Given the description of an element on the screen output the (x, y) to click on. 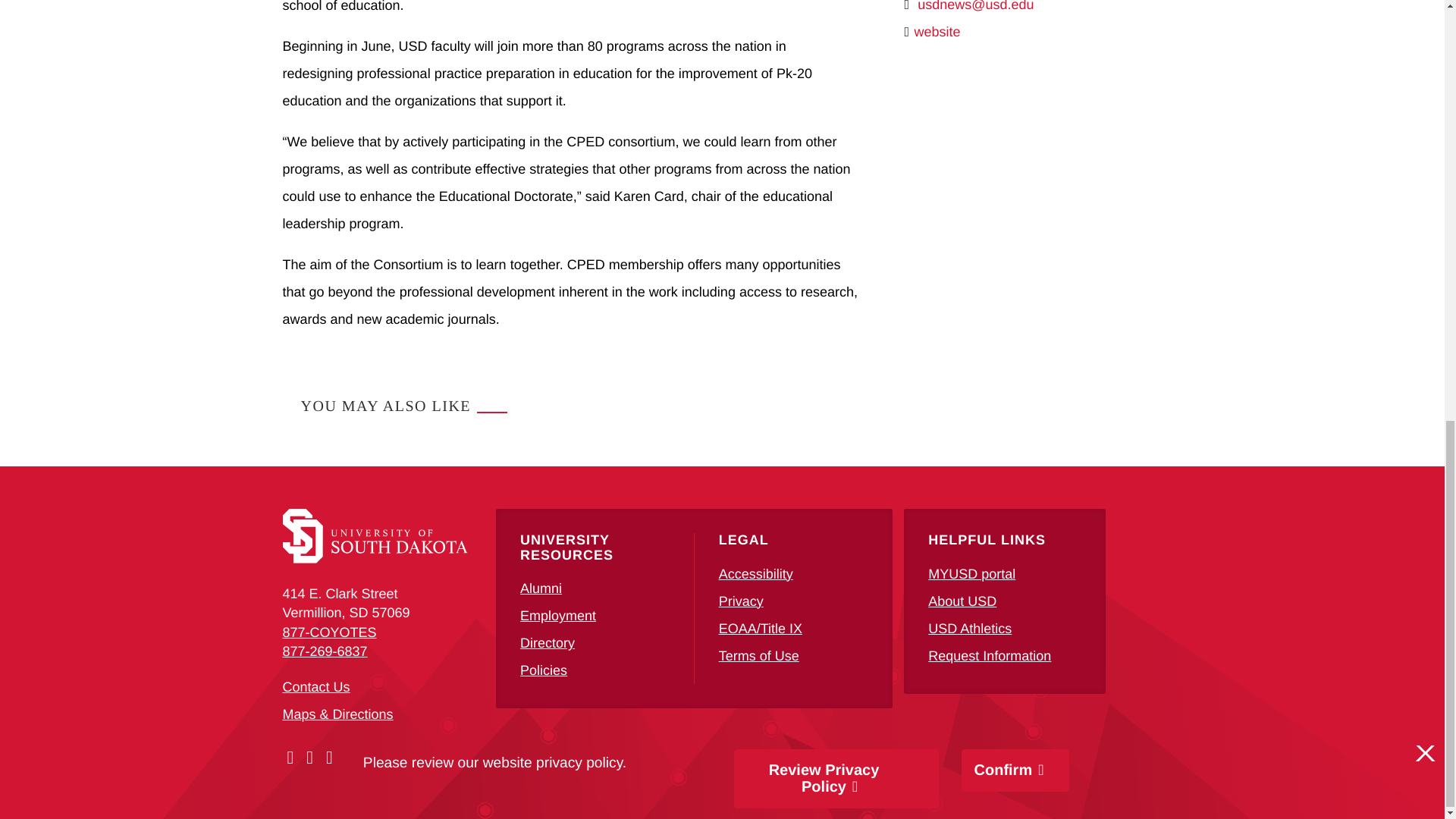
USD Terms of Use (759, 655)
Employment (557, 615)
Privacy (740, 601)
USD Policies (543, 670)
Faculty and Staff Directory (547, 642)
USD Alumni (540, 588)
Accessibility (756, 573)
MYUSD portal (971, 573)
About USD (961, 601)
Request Information (989, 655)
